Given the description of an element on the screen output the (x, y) to click on. 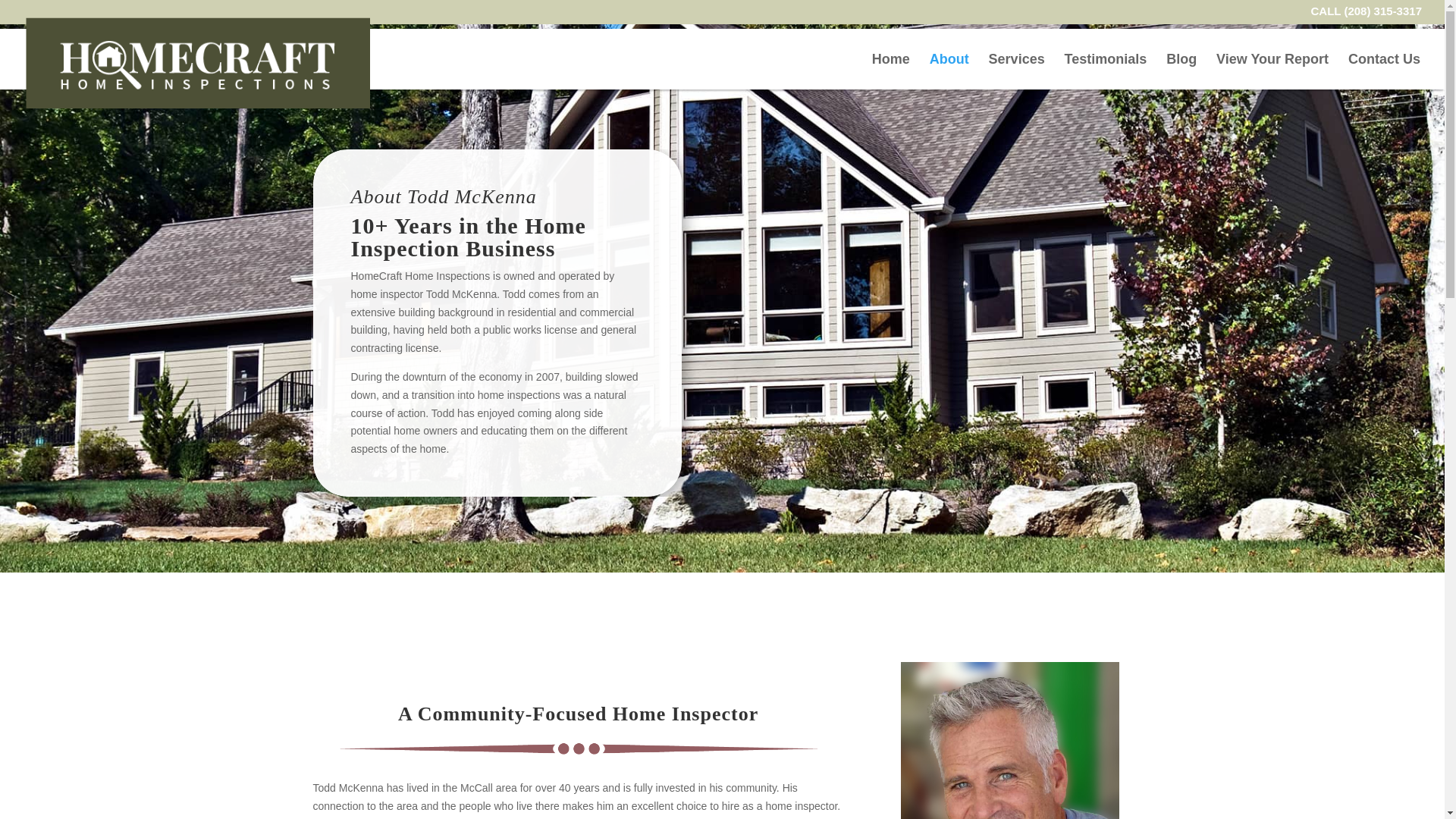
About (949, 70)
Testimonials (1105, 70)
Home (891, 70)
View Your Report (1271, 70)
Contact Us (1384, 70)
Services (1016, 70)
